Given the description of an element on the screen output the (x, y) to click on. 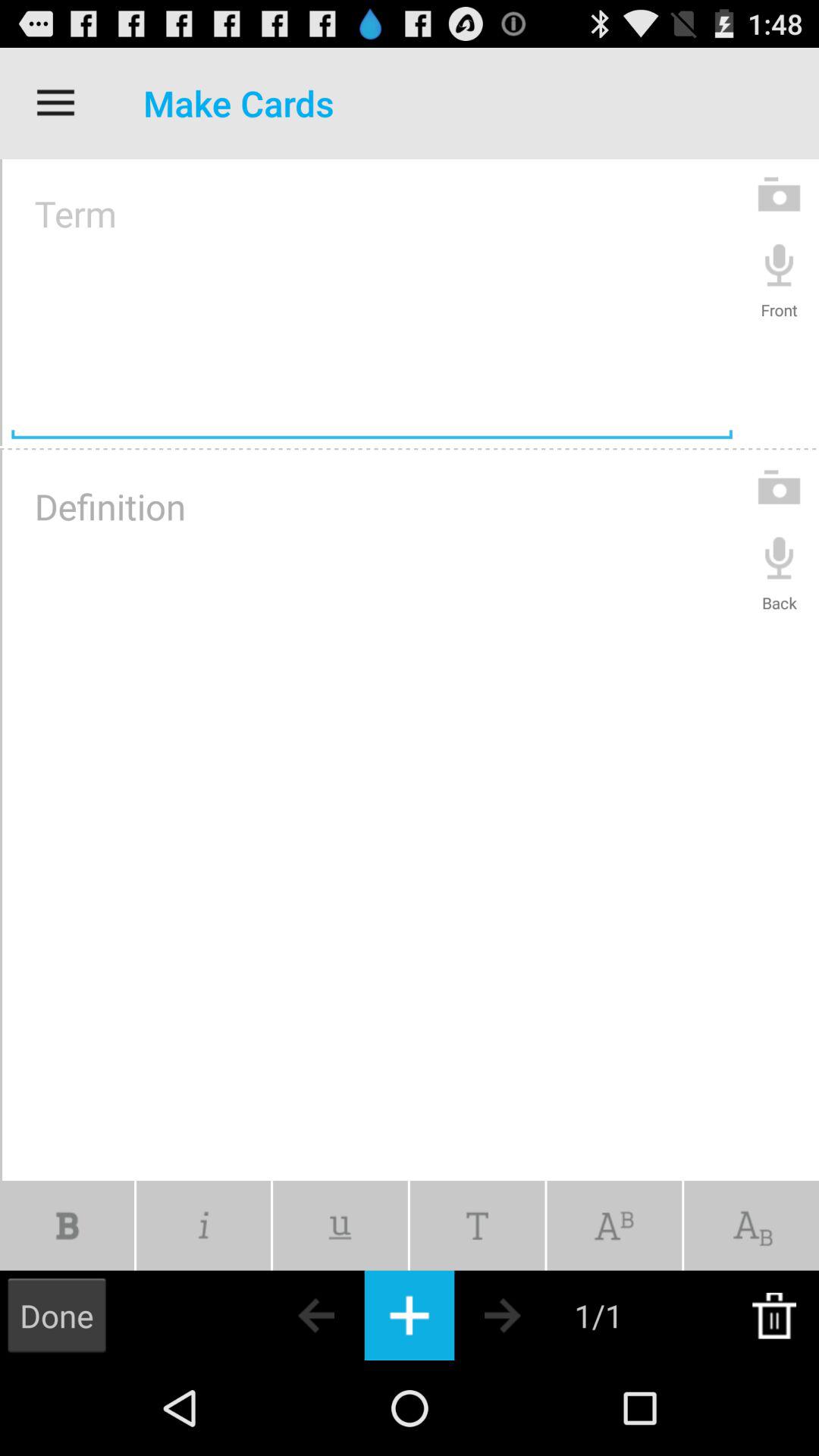
delete this (774, 1315)
